Given the description of an element on the screen output the (x, y) to click on. 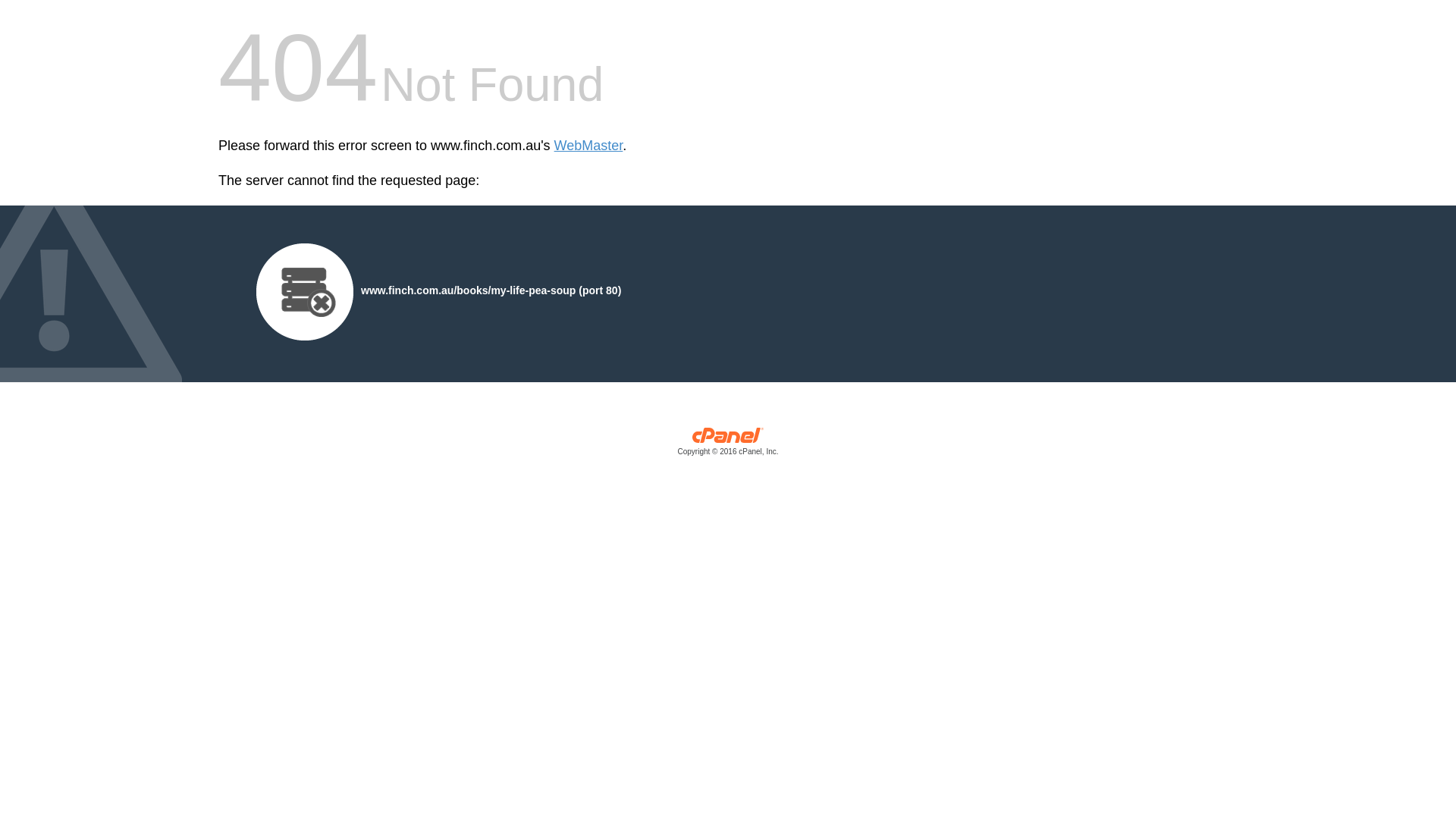
WebMaster Element type: text (588, 145)
